Given the description of an element on the screen output the (x, y) to click on. 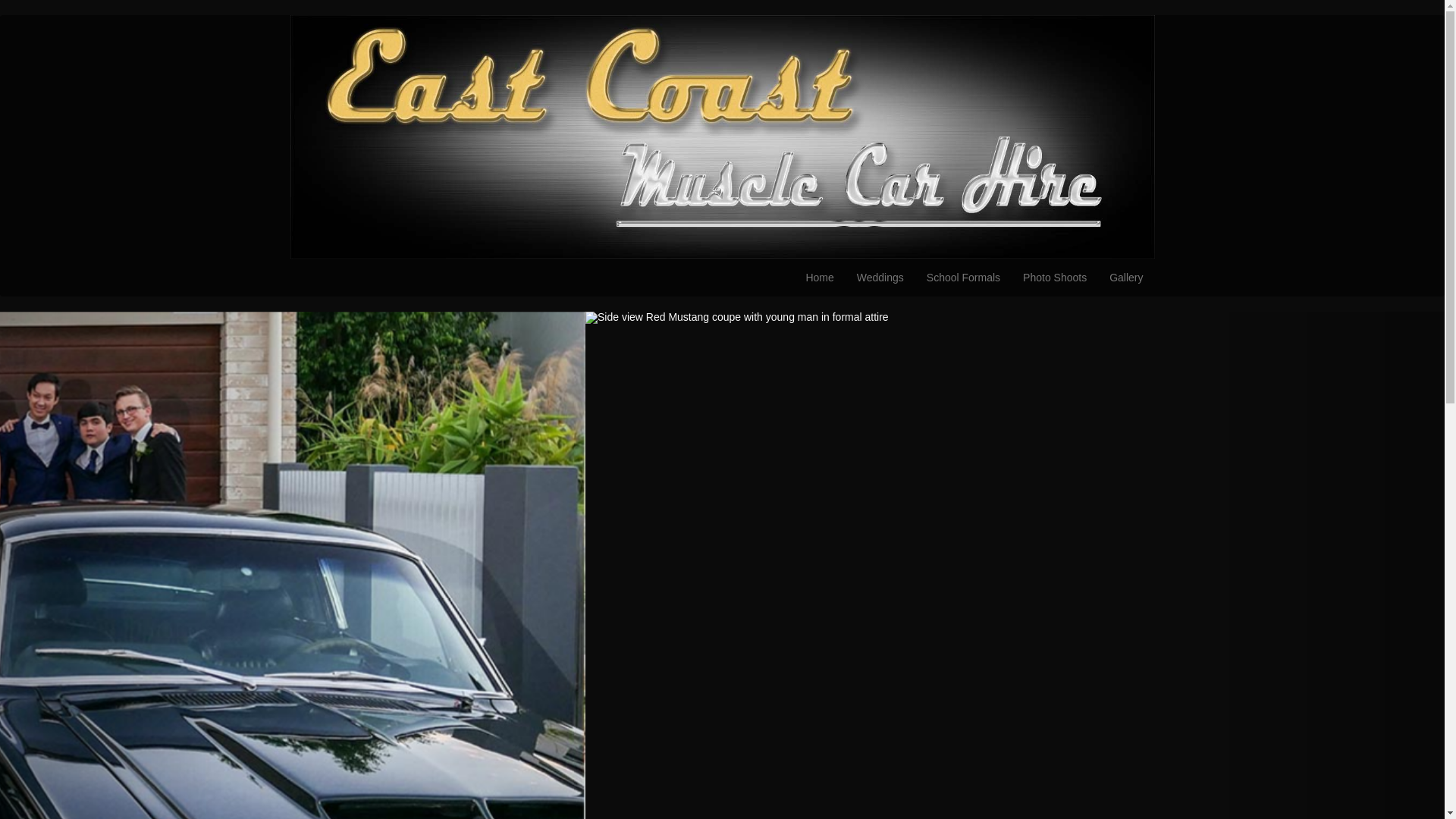
Photo Shoots Element type: text (1054, 277)
School Formals Element type: text (963, 277)
Home Element type: text (818, 277)
Weddings Element type: text (880, 277)
Gallery Element type: text (1126, 277)
